Given the description of an element on the screen output the (x, y) to click on. 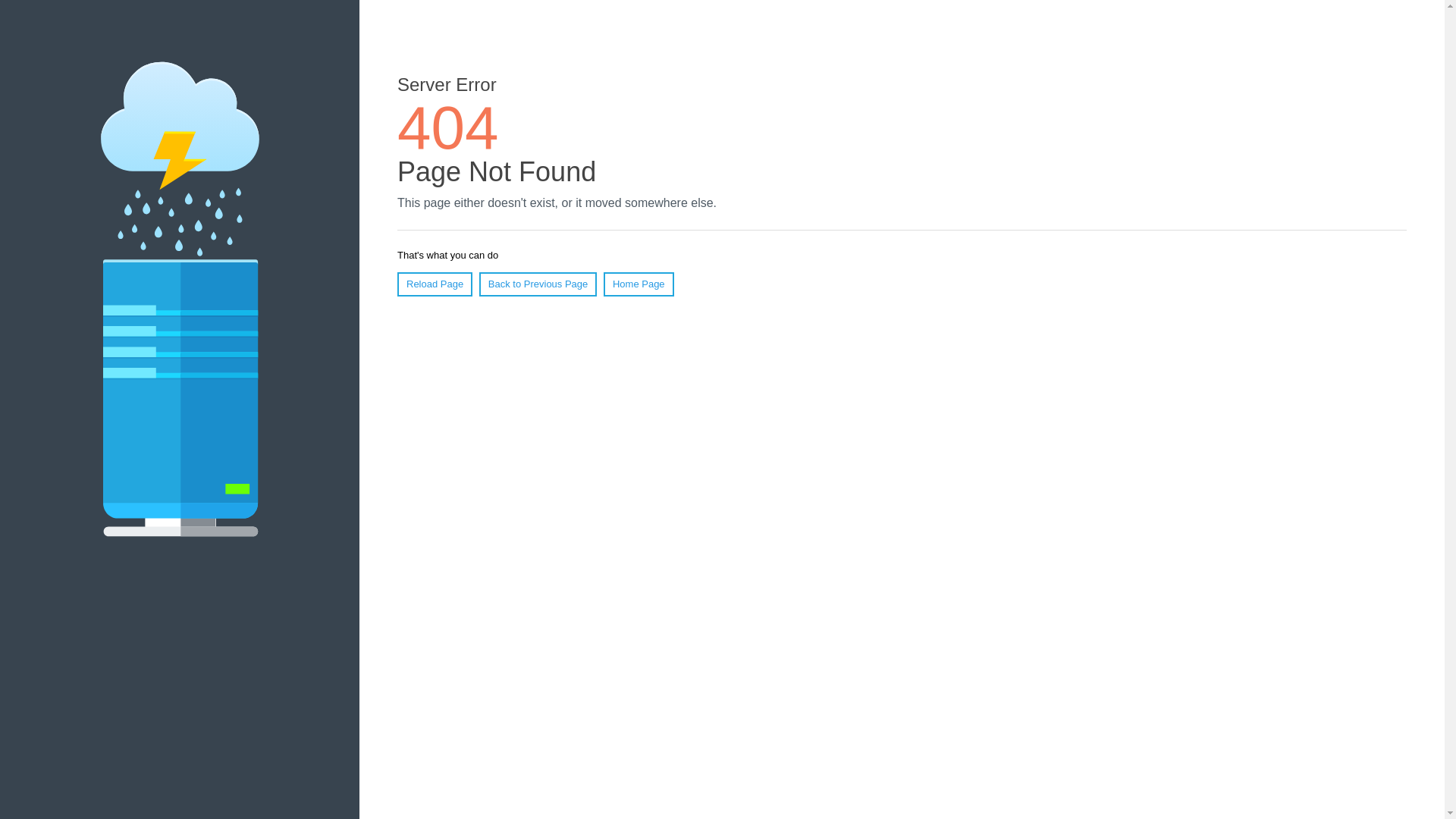
Reload Page Element type: text (434, 284)
Home Page Element type: text (638, 284)
Back to Previous Page Element type: text (538, 284)
